Given the description of an element on the screen output the (x, y) to click on. 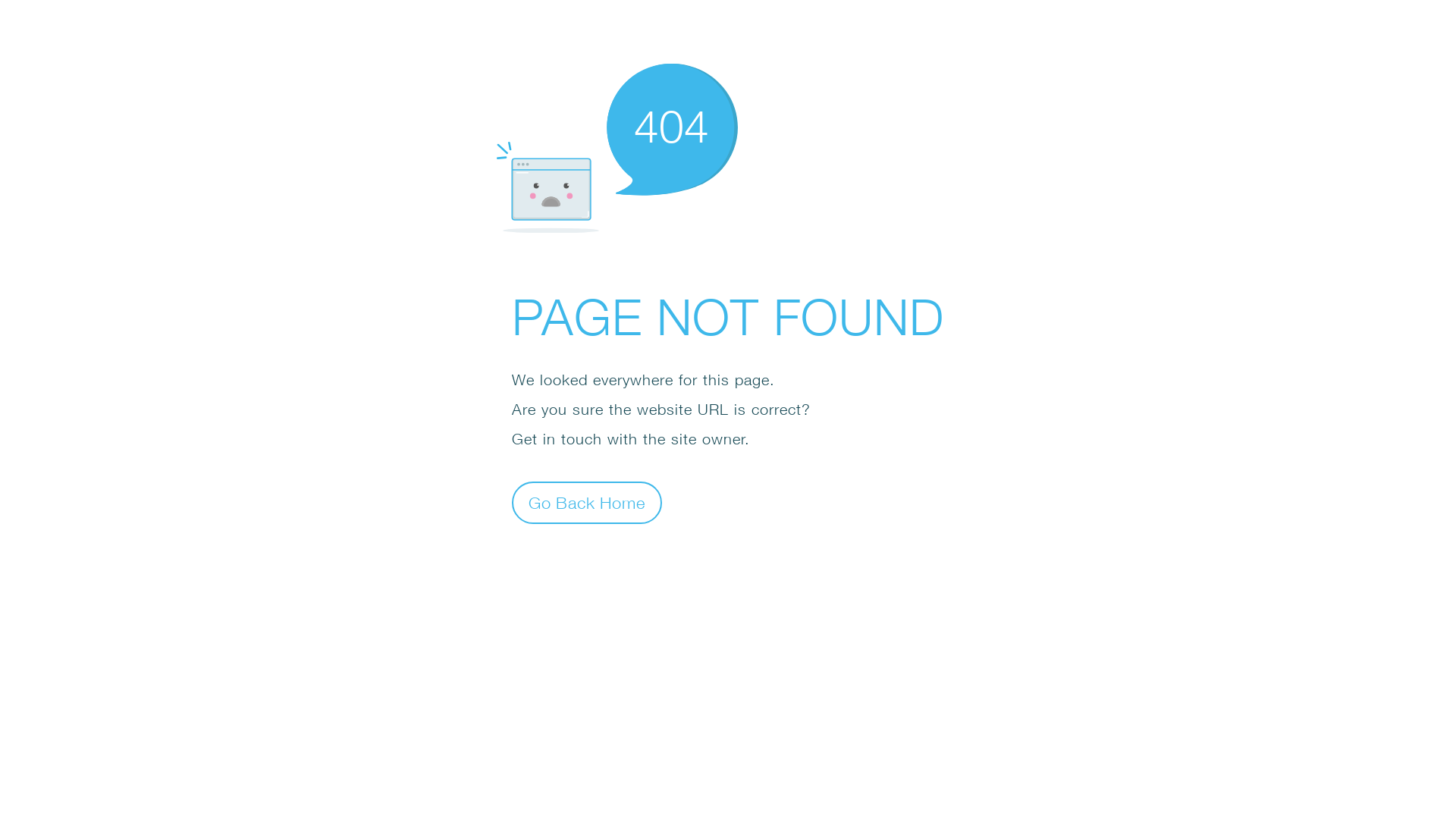
Go Back Home Element type: text (586, 502)
